Given the description of an element on the screen output the (x, y) to click on. 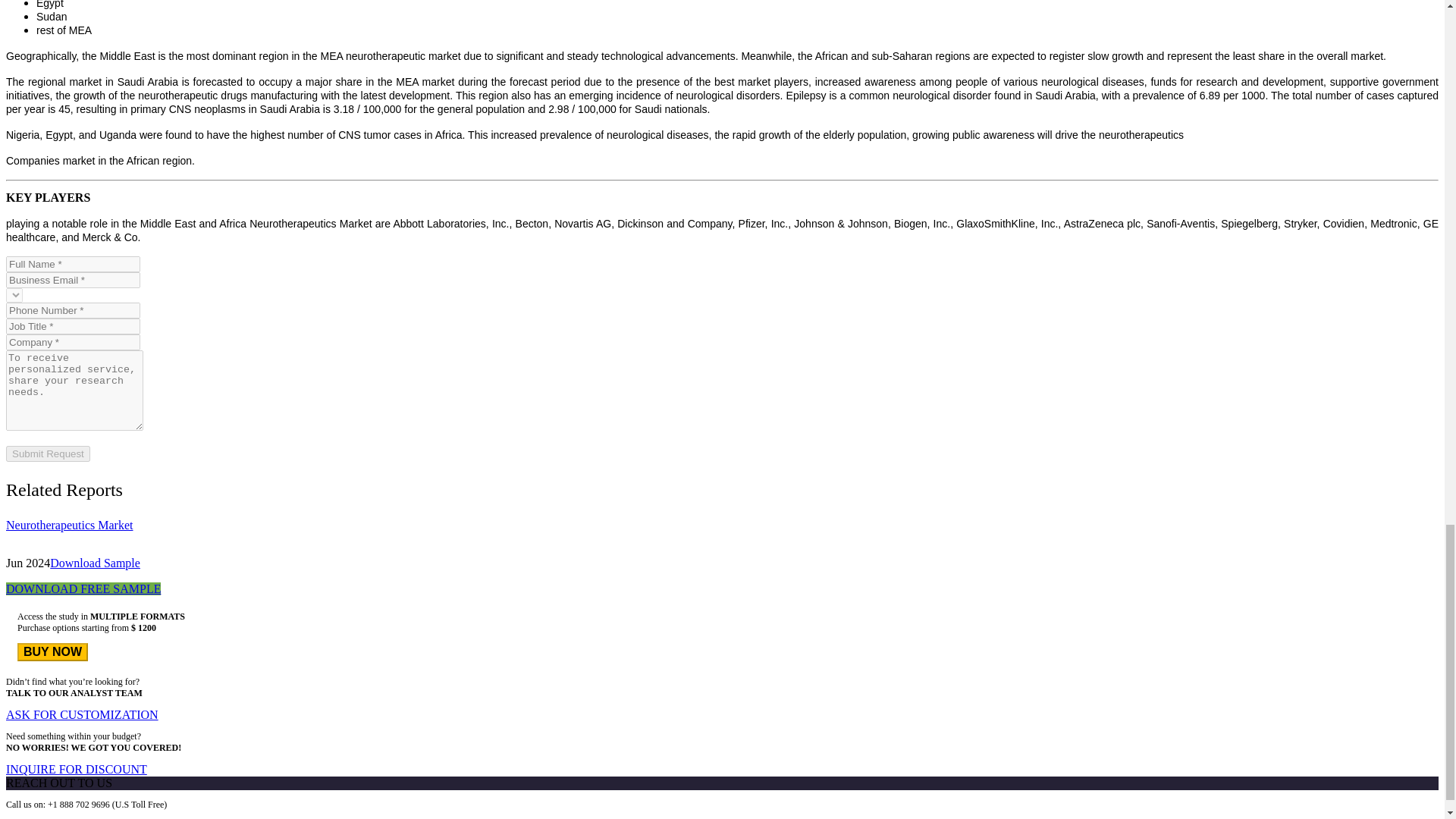
Submit Request (47, 453)
Submit Request (47, 453)
